Given the description of an element on the screen output the (x, y) to click on. 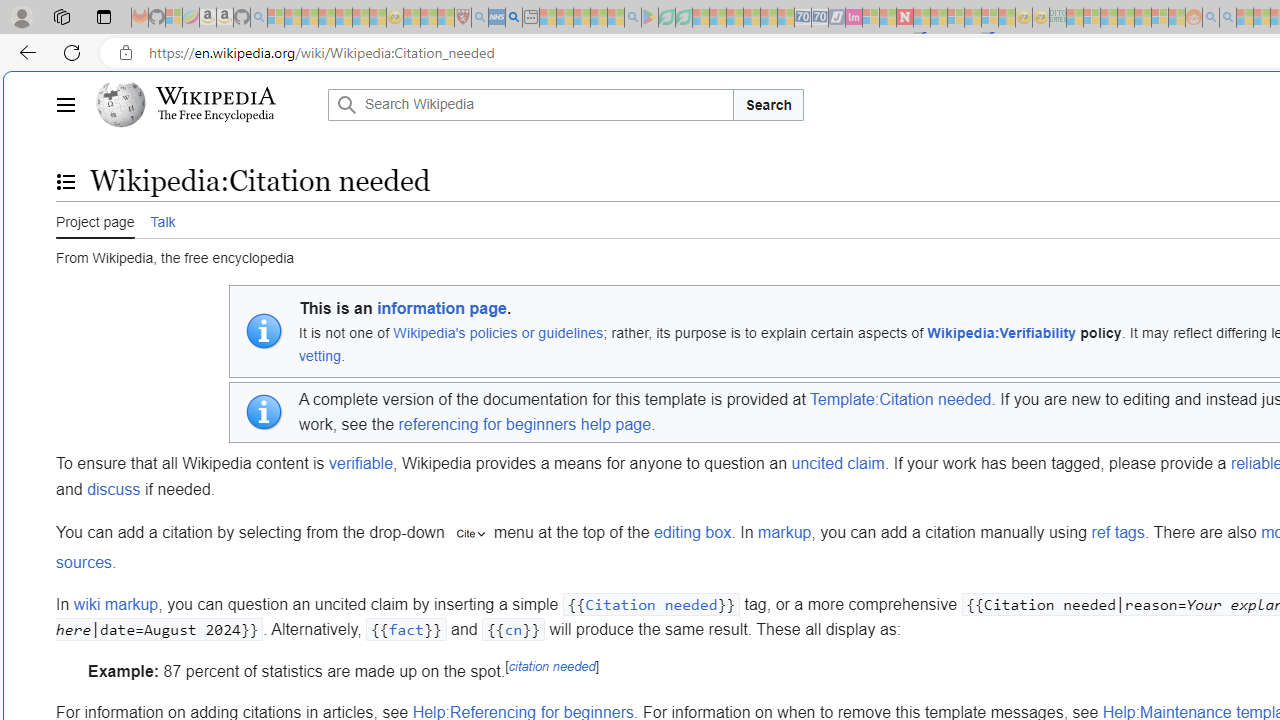
Talk (162, 219)
Search Wikipedia (530, 104)
Template:Citation needed (900, 399)
vetting (319, 355)
The Free Encyclopedia (216, 116)
referencing for beginners help page (524, 425)
Toggle the table of contents (65, 181)
